Given the description of an element on the screen output the (x, y) to click on. 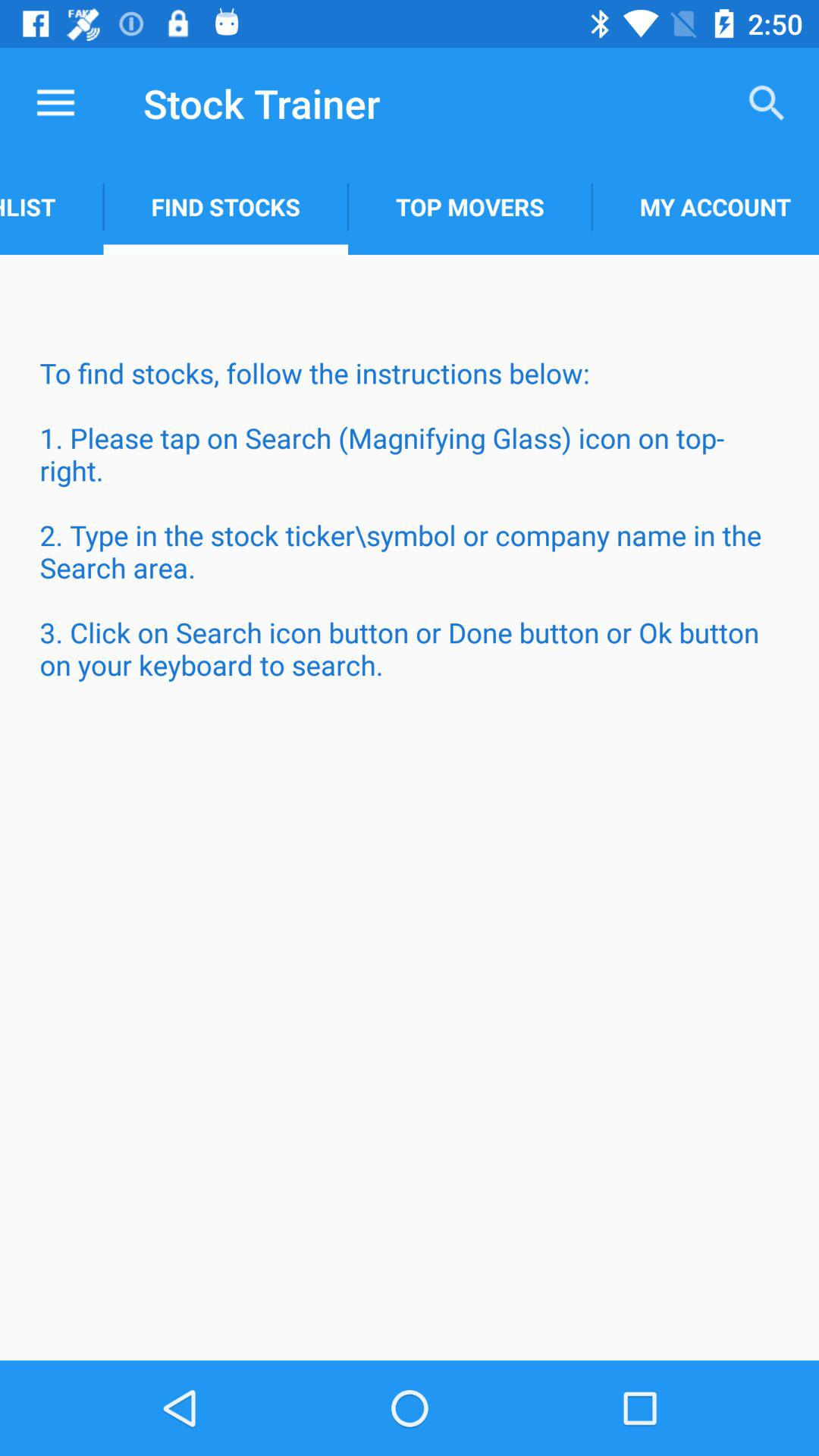
swipe until watchlist app (51, 206)
